Given the description of an element on the screen output the (x, y) to click on. 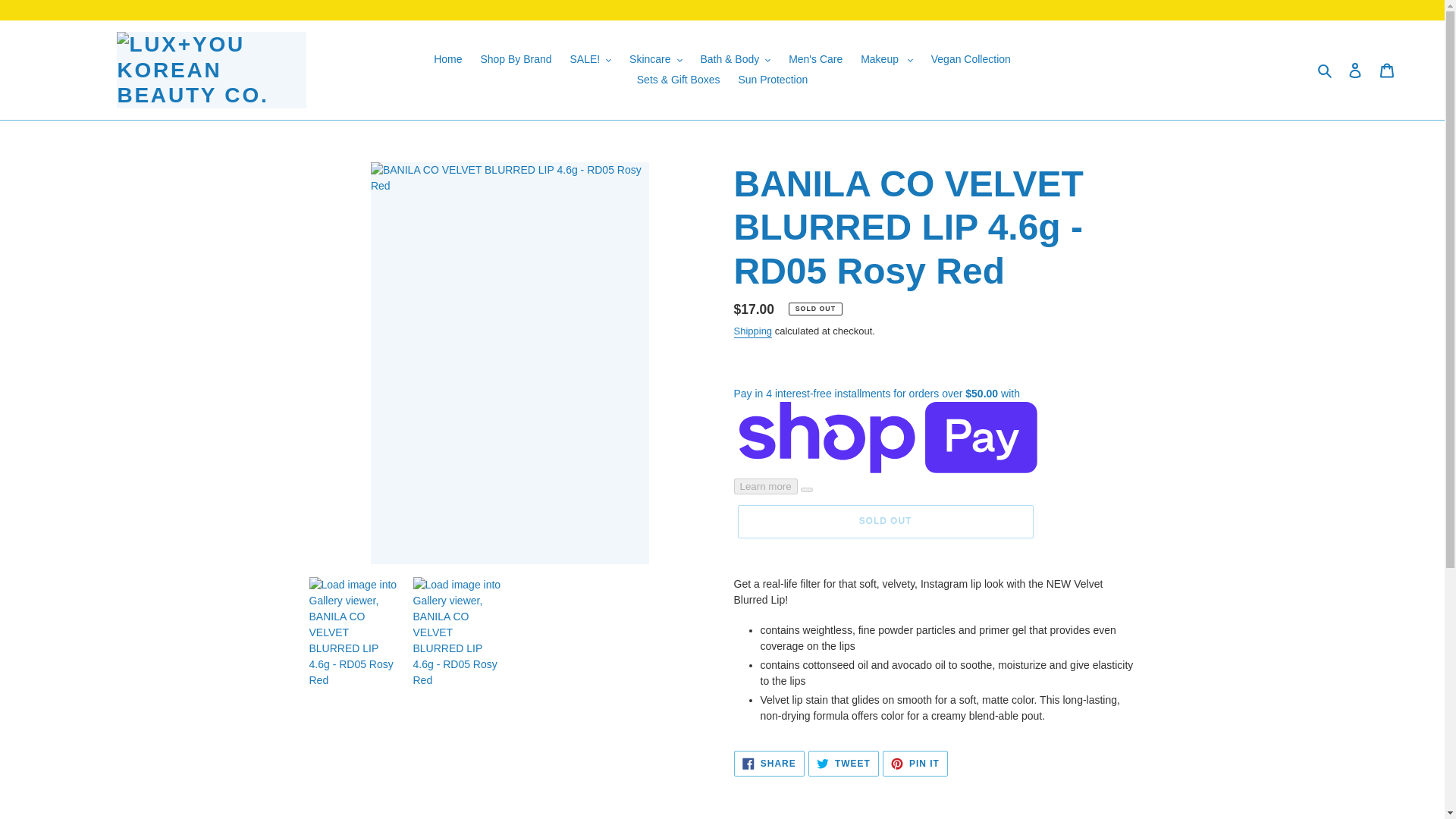
Men's Care (815, 59)
Skincare (654, 59)
SALE! (590, 59)
Log in (1355, 69)
Cart (1387, 69)
Makeup (886, 59)
Home (447, 59)
Sun Protection (772, 79)
Vegan Collection (970, 59)
Shop By Brand (515, 59)
